Given the description of an element on the screen output the (x, y) to click on. 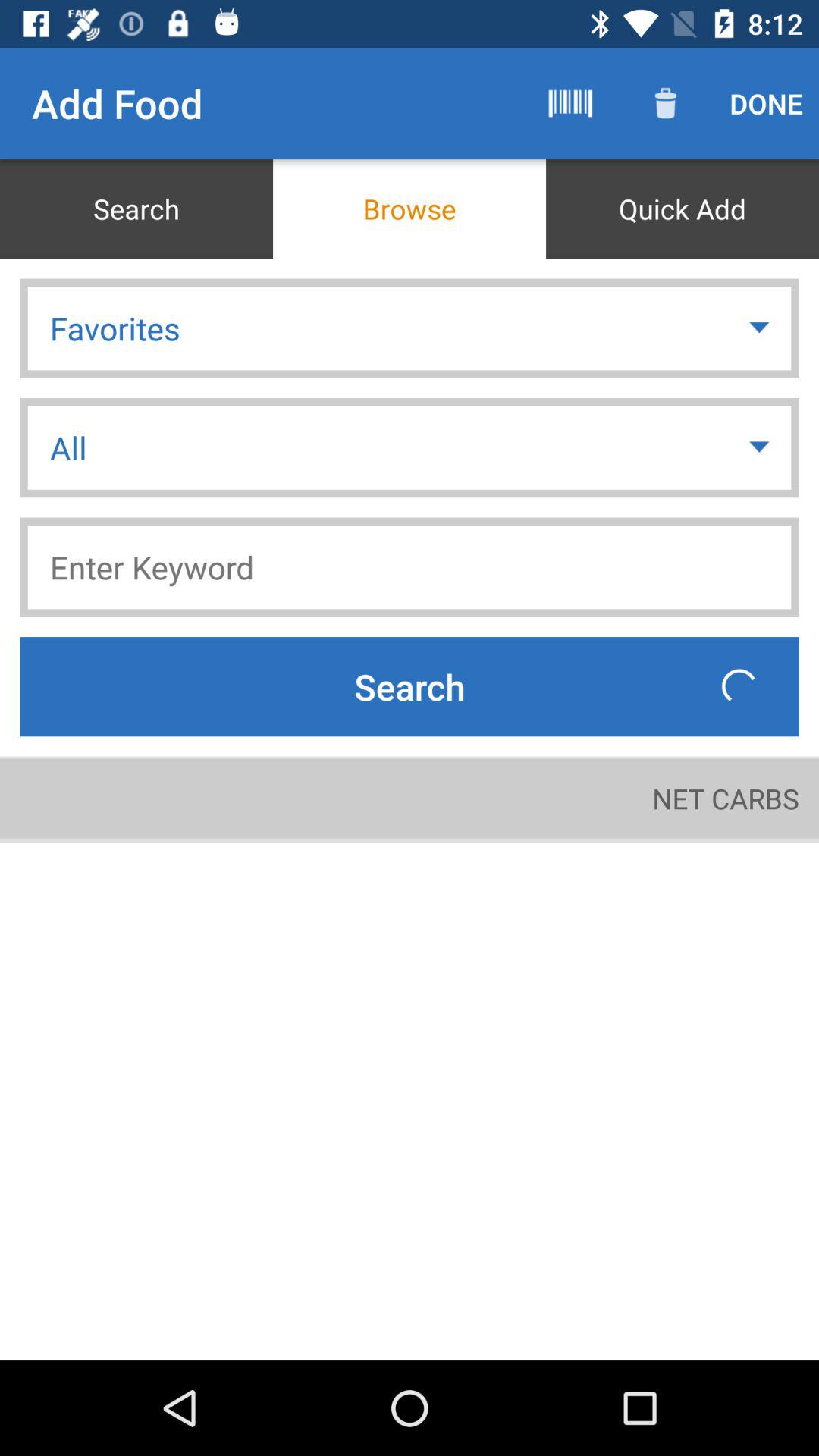
select icon above net carbs (739, 686)
